Given the description of an element on the screen output the (x, y) to click on. 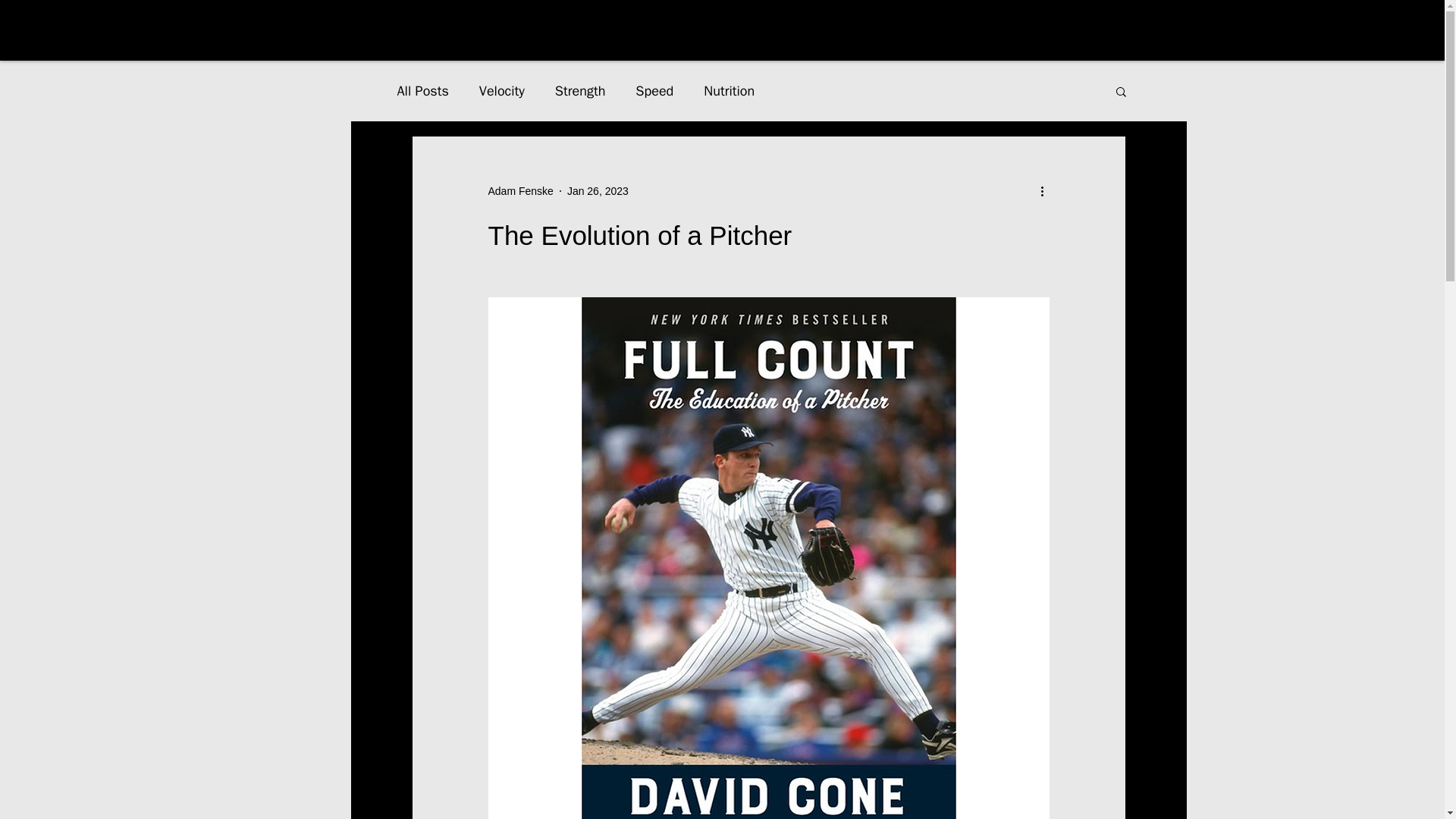
Velocity (501, 90)
All Posts (422, 90)
Adam Fenske (520, 191)
Nutrition (728, 90)
Strength (579, 90)
Speed (653, 90)
Jan 26, 2023 (597, 191)
Adam Fenske (520, 191)
